Given the description of an element on the screen output the (x, y) to click on. 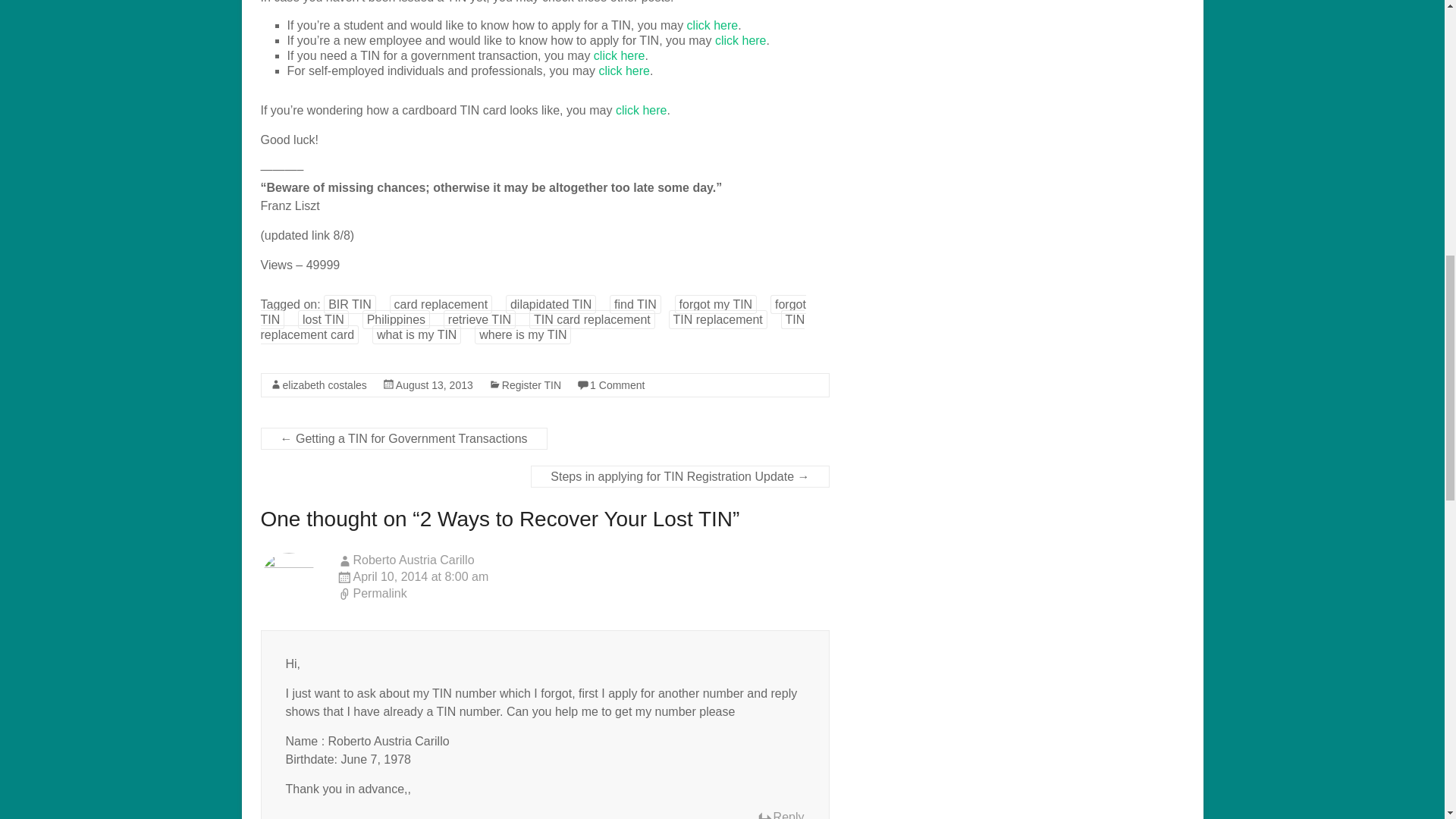
click here (623, 70)
click here (740, 40)
lost TIN (323, 319)
TIN replacement card (532, 326)
click here (619, 55)
August 13, 2013 (434, 385)
find TIN (635, 303)
retrieve TIN (479, 319)
Your TIN Explained (640, 110)
TIN replacement (717, 319)
Philippines (395, 319)
where is my TIN (522, 334)
Getting a TIN for Government Transactions (619, 55)
